Given the description of an element on the screen output the (x, y) to click on. 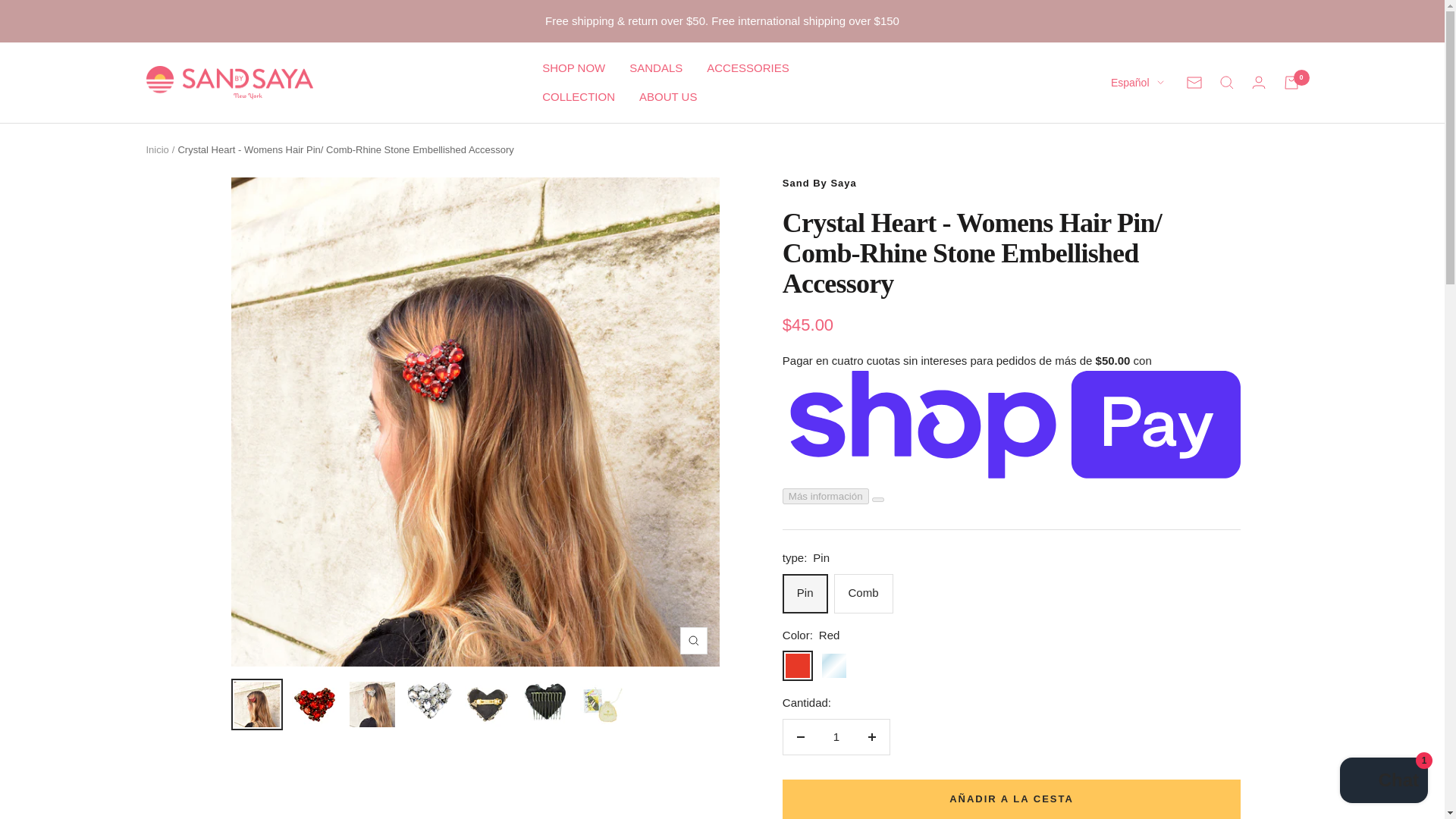
Sand By Saya New York (229, 82)
es (1128, 184)
ko (1128, 260)
SHOP NOW (573, 67)
fr (1128, 234)
1 (836, 736)
Chat de la tienda online Shopify (1383, 781)
ACCESSORIES (747, 67)
COLLECTION (577, 96)
zh-CN (1128, 209)
SANDALS (655, 67)
